Given the description of an element on the screen output the (x, y) to click on. 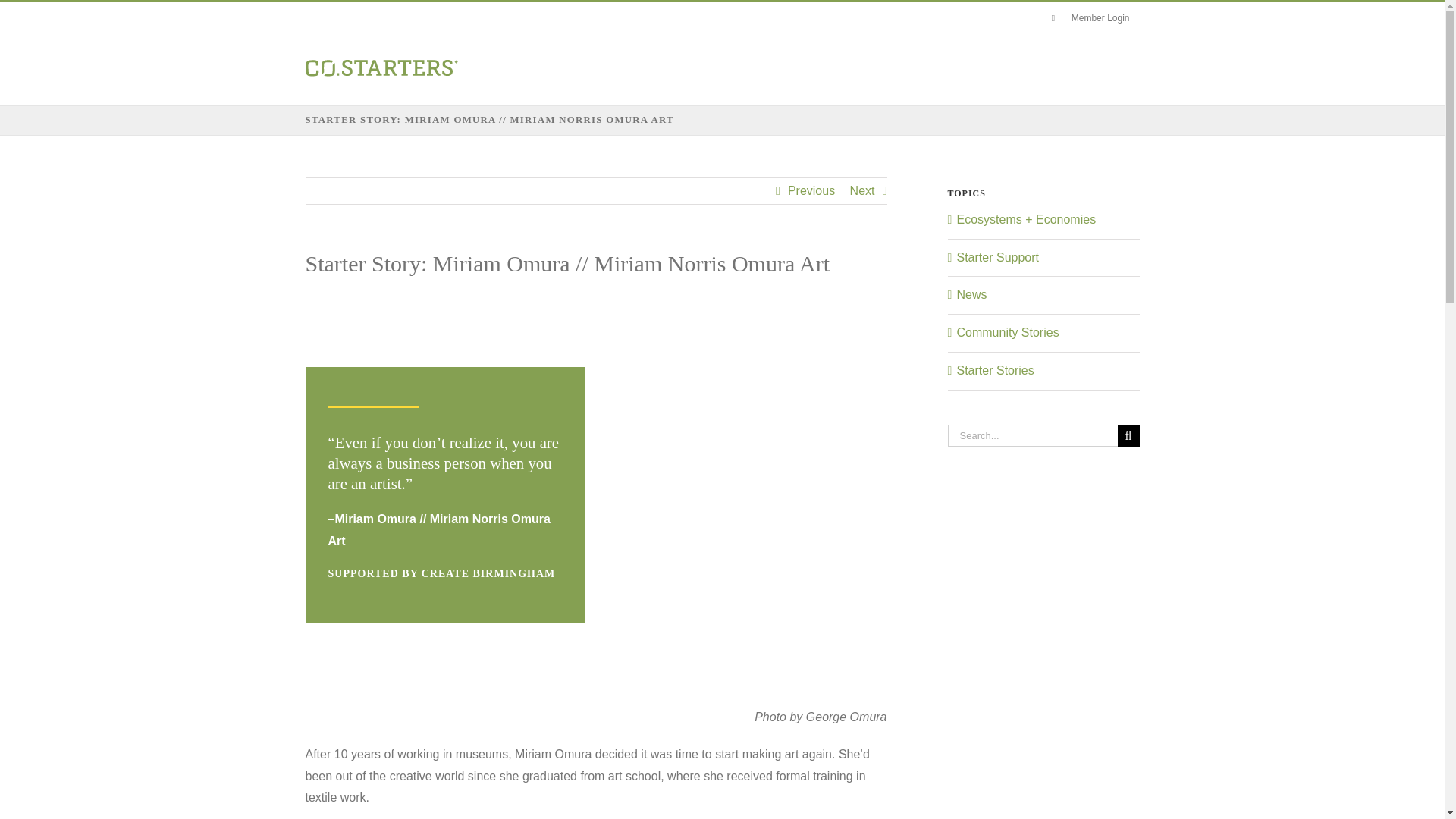
Next (862, 190)
Starter Stories (994, 369)
Member Login (1091, 19)
News (971, 294)
Starter Support (997, 256)
Community Stories (1007, 332)
Previous (810, 190)
